Given the description of an element on the screen output the (x, y) to click on. 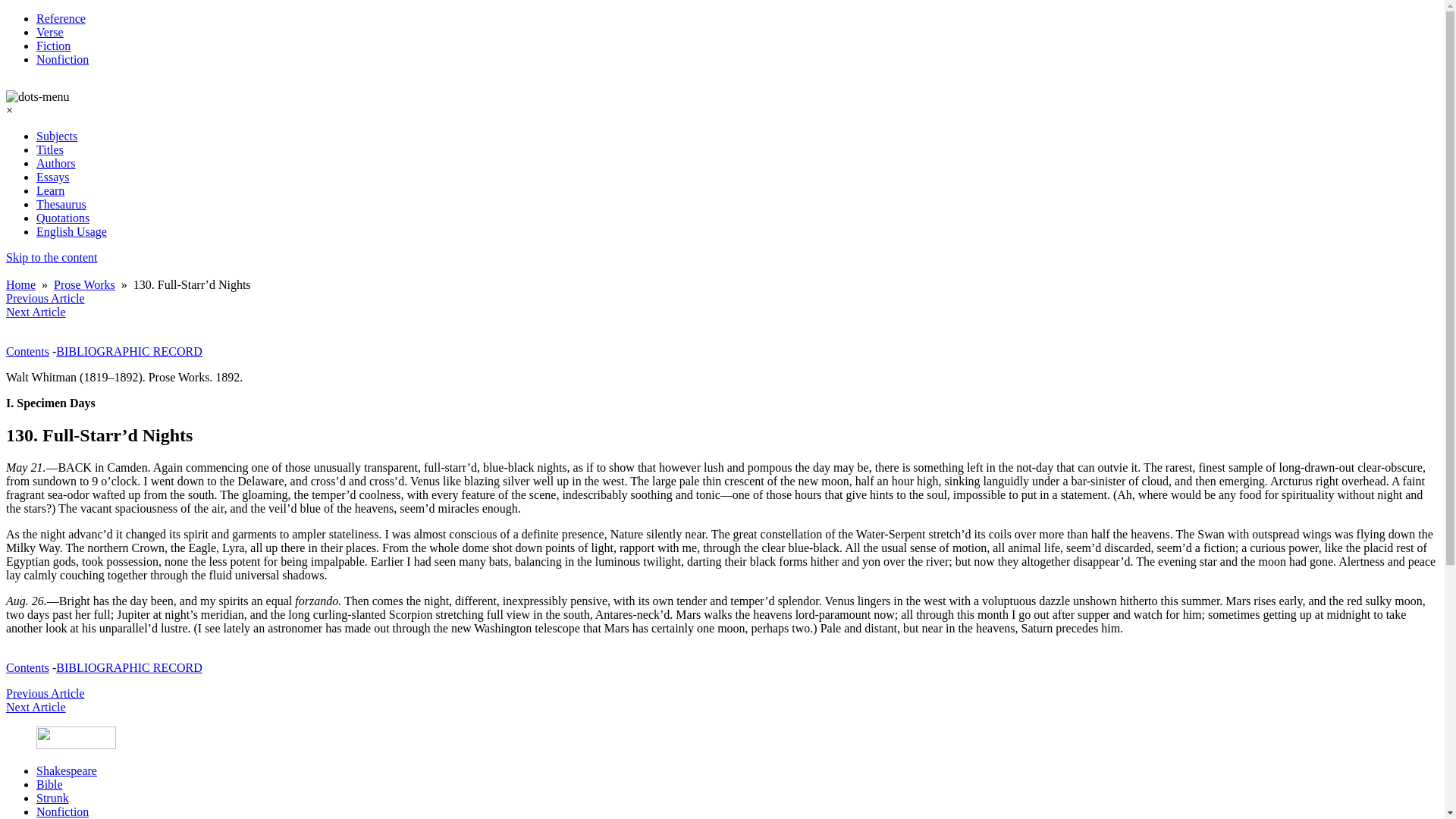
Essays (52, 176)
Prose Works (84, 284)
Next Article (35, 707)
Thesaurus (60, 204)
Subjects (56, 135)
Bible (49, 784)
Previous Article (44, 297)
Reference (60, 18)
English Usage (71, 231)
Nonfiction (62, 811)
Previous Article (44, 693)
BIBLIOGRAPHIC RECORD (129, 350)
Skip to the content (51, 256)
Titles (50, 149)
Learn (50, 190)
